Given the description of an element on the screen output the (x, y) to click on. 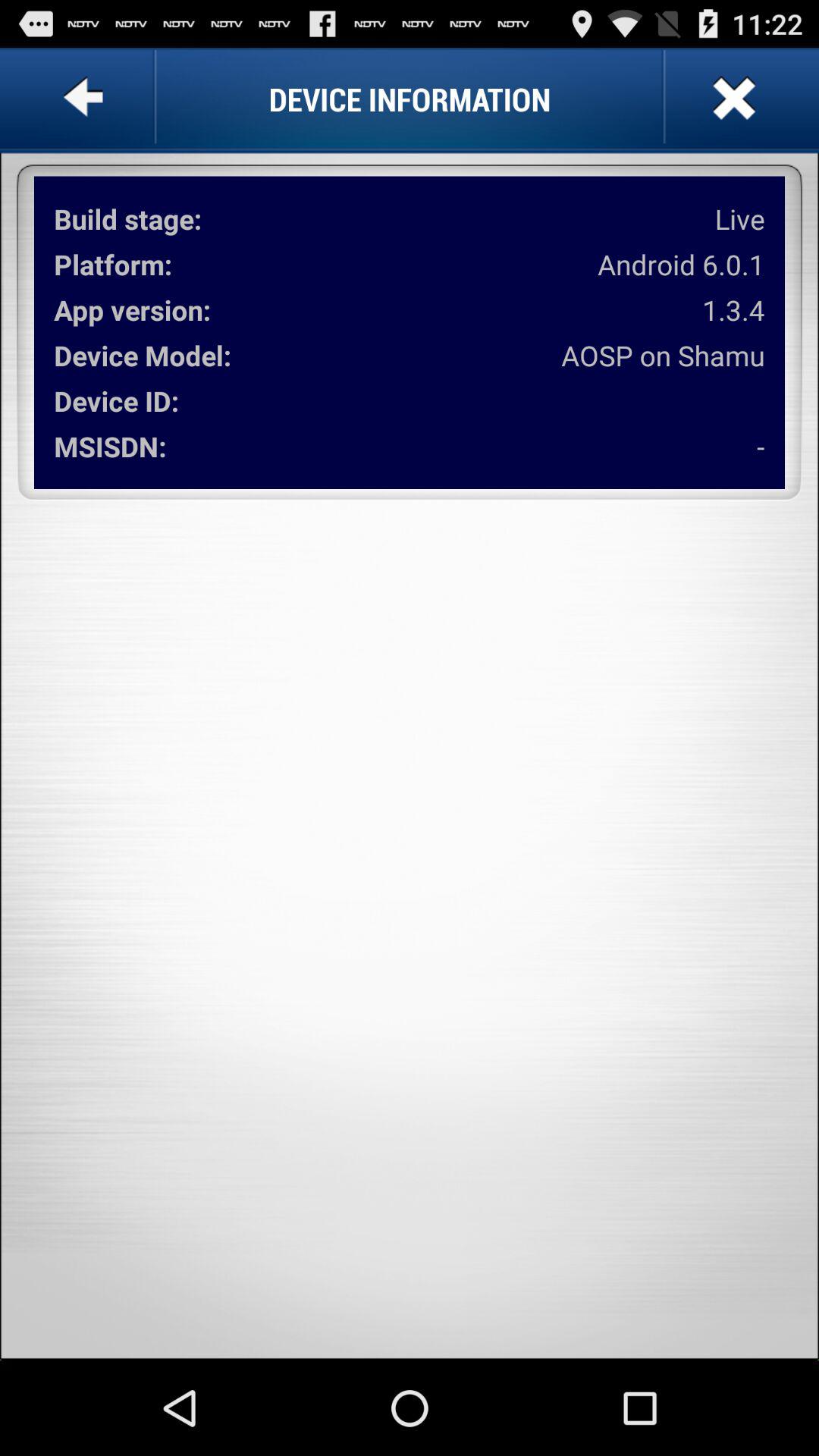
close button (732, 99)
